Given the description of an element on the screen output the (x, y) to click on. 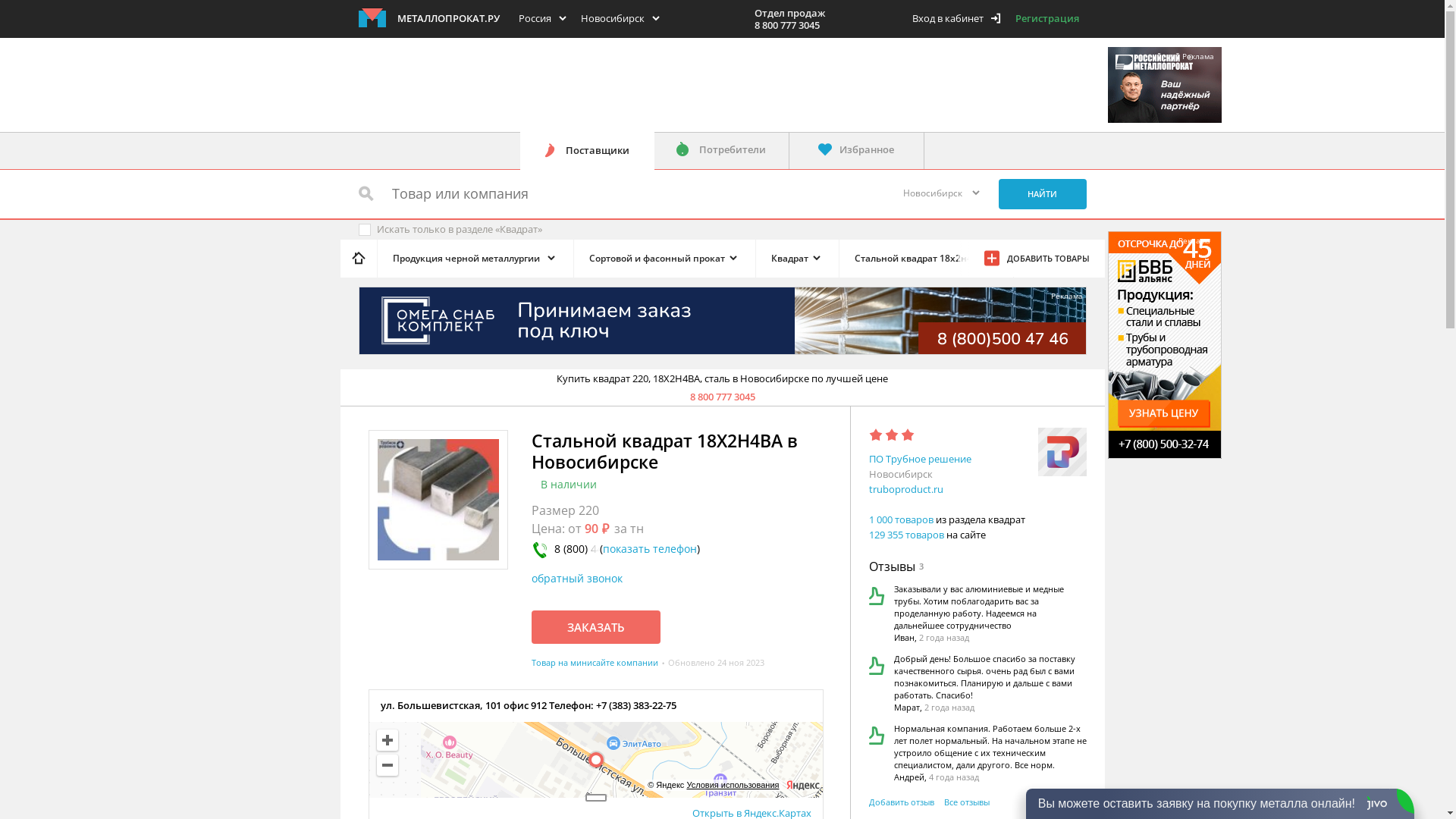
truboproduct.ru Element type: text (906, 488)
